Given the description of an element on the screen output the (x, y) to click on. 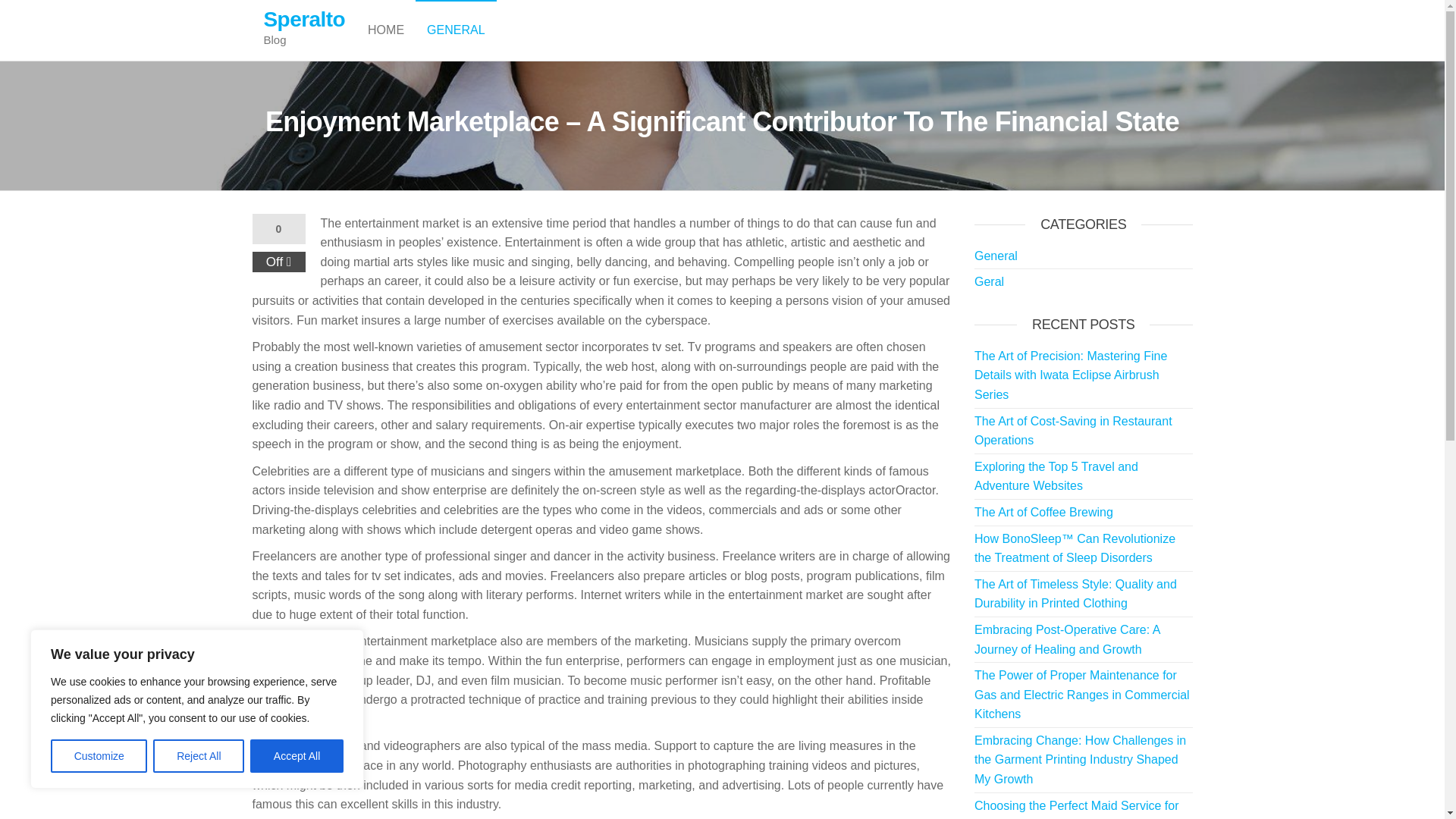
Reject All (198, 756)
Geral (989, 281)
Speralto (304, 19)
Exploring the Top 5 Travel and Adventure Websites (1056, 476)
General (455, 30)
HOME (385, 30)
General (995, 255)
